Given the description of an element on the screen output the (x, y) to click on. 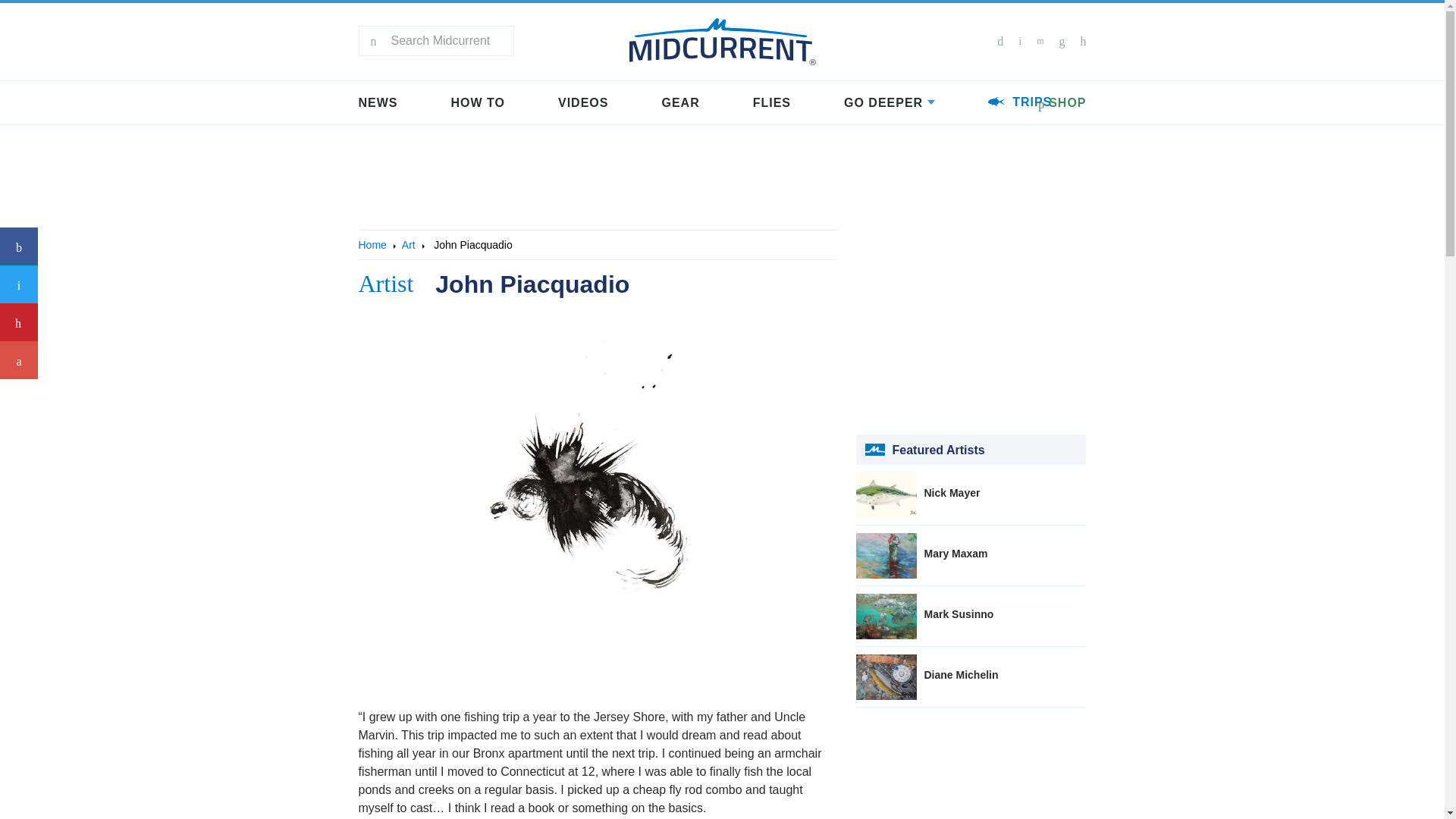
VIDEOS (582, 103)
SHOP (1062, 104)
NEWS (377, 103)
FLIES (771, 103)
TRIPS (1019, 102)
3rd party ad content (721, 168)
GEAR (679, 103)
3rd party ad content (970, 324)
GO DEEPER (889, 103)
3rd party ad content (969, 763)
HOW TO (476, 103)
